Given the description of an element on the screen output the (x, y) to click on. 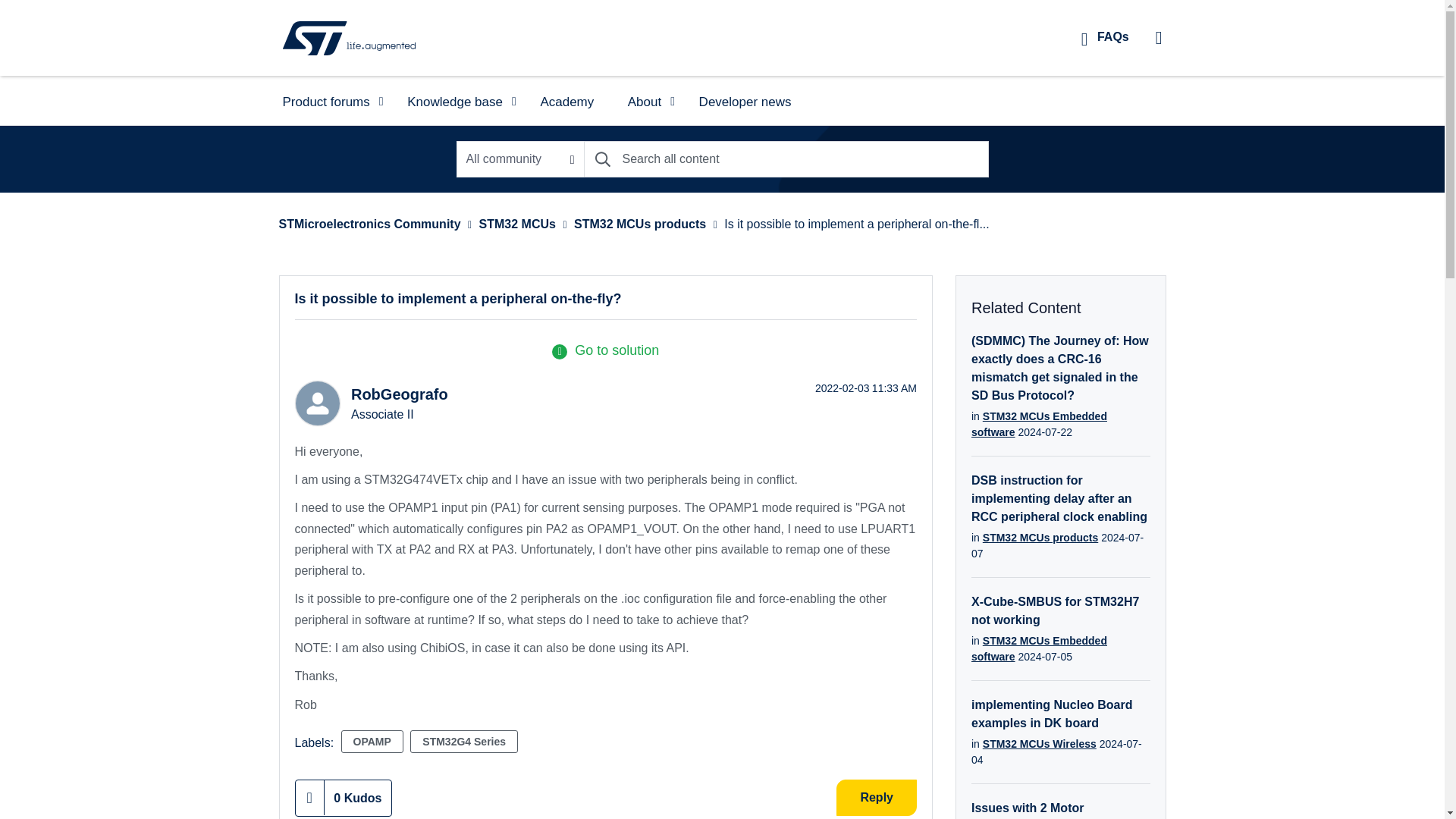
Search Granularity (520, 158)
Product forums (327, 100)
Search (602, 159)
The total number of kudos this post has received. (357, 797)
FAQs (1105, 35)
Search (785, 158)
STMicroelectronics Community (348, 37)
RobGeografo (316, 402)
Search (602, 159)
